Given the description of an element on the screen output the (x, y) to click on. 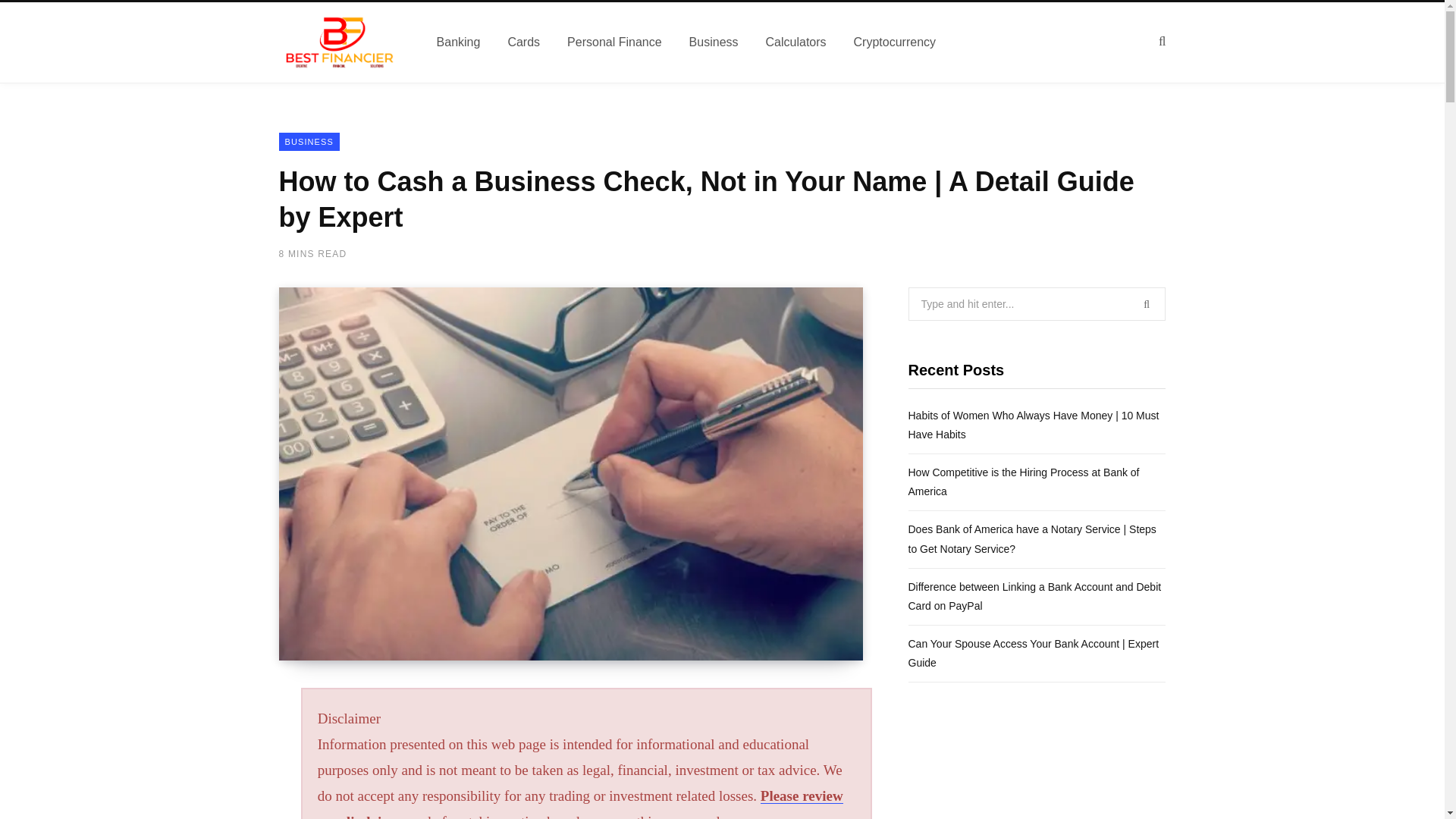
Search for: (1037, 304)
Calculators (796, 41)
Personal Finance (614, 41)
How Competitive is the Hiring Process at Bank of America (1024, 481)
Banking (459, 41)
BUSINESS (309, 141)
Cryptocurrency (894, 41)
Business (713, 41)
Cards (523, 41)
